Given the description of an element on the screen output the (x, y) to click on. 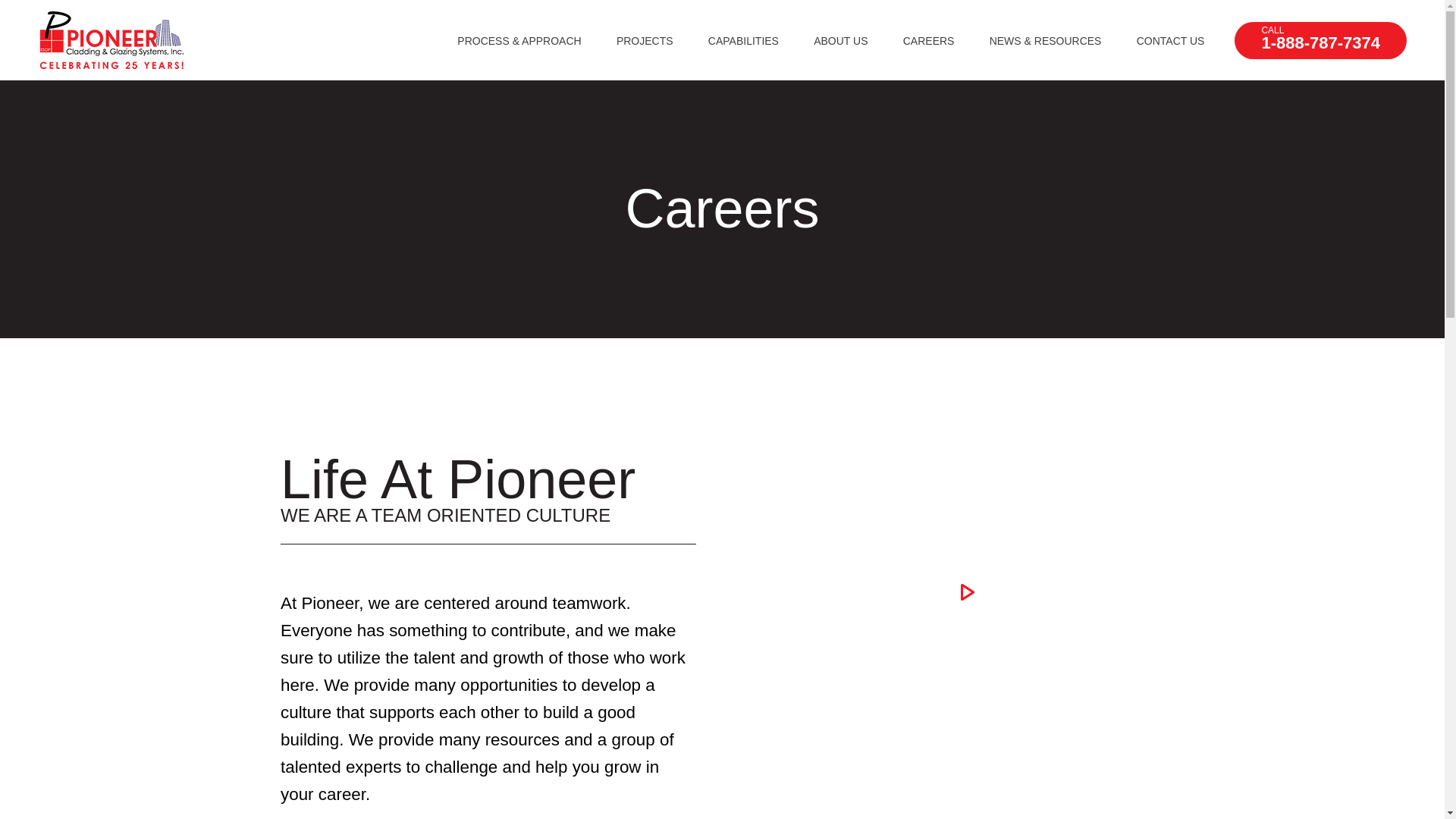
PROJECTS (643, 40)
CONTACT US (1171, 40)
CAREERS (1320, 39)
ABOUT US (928, 40)
CAPABILITIES (840, 40)
